Given the description of an element on the screen output the (x, y) to click on. 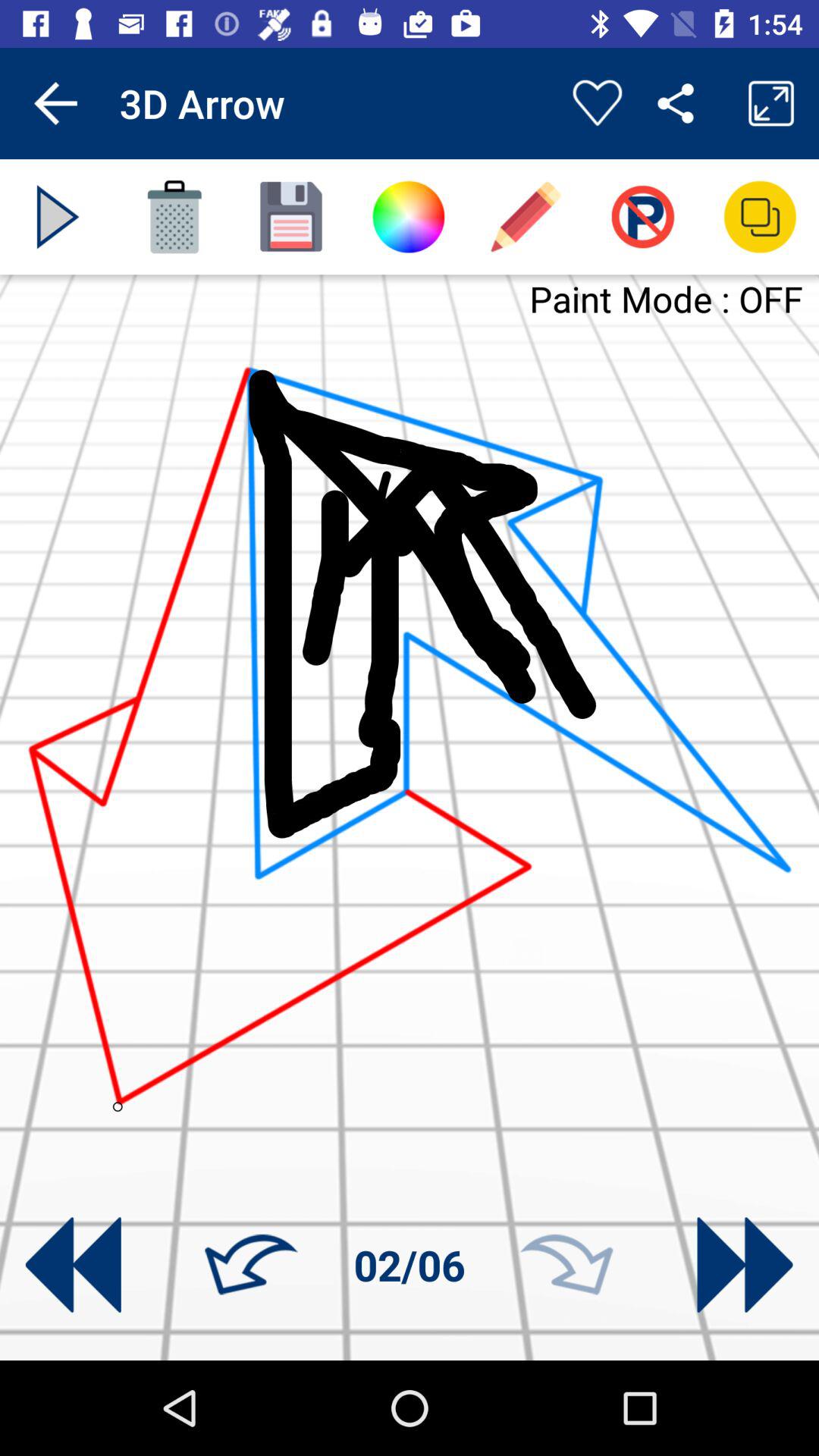
turn back on drawing tutorial (73, 1264)
